Given the description of an element on the screen output the (x, y) to click on. 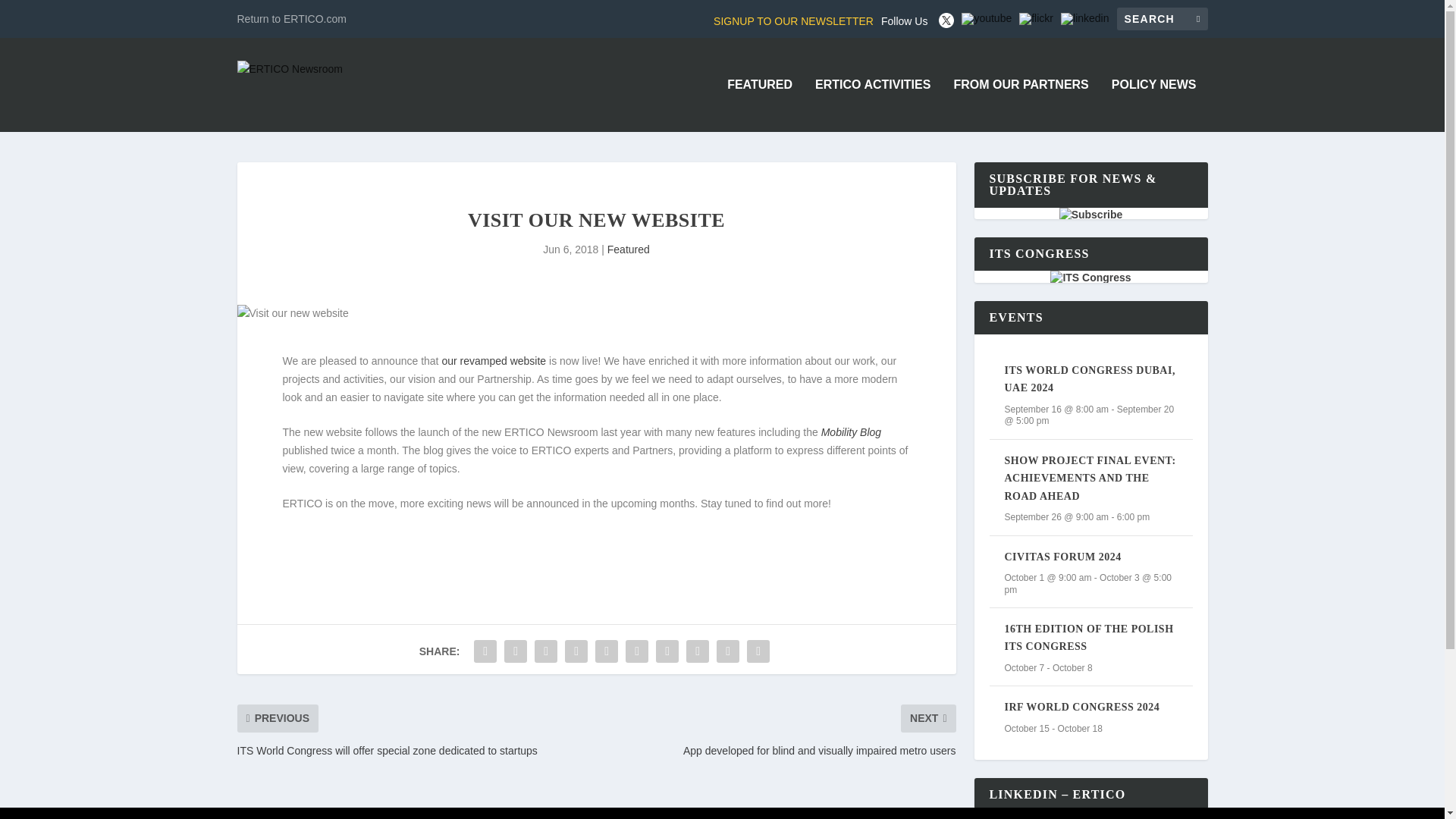
CIVITAS FORUM 2024 (1062, 556)
FROM OUR PARTNERS (1020, 104)
Share "Visit our new website" via LinkedIn (636, 651)
FEATURED (759, 104)
SIGNUP TO OUR NEWSLETTER (793, 21)
Return to ERTICO.com (290, 18)
SHOW PROJECT FINAL EVENT: ACHIEVEMENTS AND THE ROAD AHEAD (1089, 478)
Share "Visit our new website" via Print (757, 651)
Share "Visit our new website" via Stumbleupon (697, 651)
Featured (628, 249)
